Given the description of an element on the screen output the (x, y) to click on. 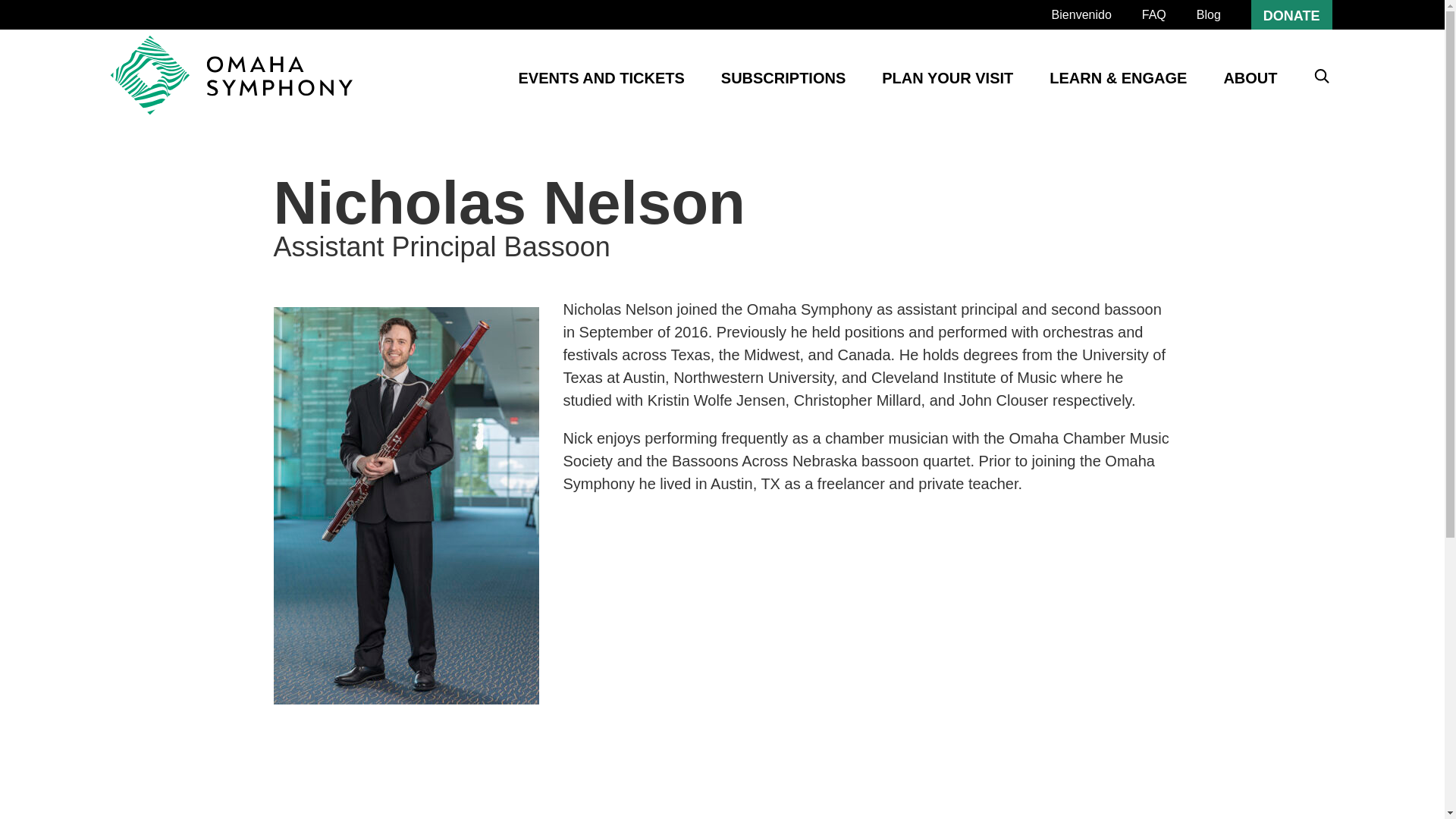
Omaha Symphony - Music Director Thomas Wilkins (230, 75)
SUBSCRIPTIONS (782, 77)
Bienvenido (1081, 13)
Omaha Symphony - Music Director Thomas Wilkins (230, 76)
ABOUT (1249, 77)
EVENTS AND TICKETS (601, 77)
DONATE (1291, 14)
FAQ (1153, 13)
Blog (1208, 13)
PLAN YOUR VISIT (947, 77)
